Given the description of an element on the screen output the (x, y) to click on. 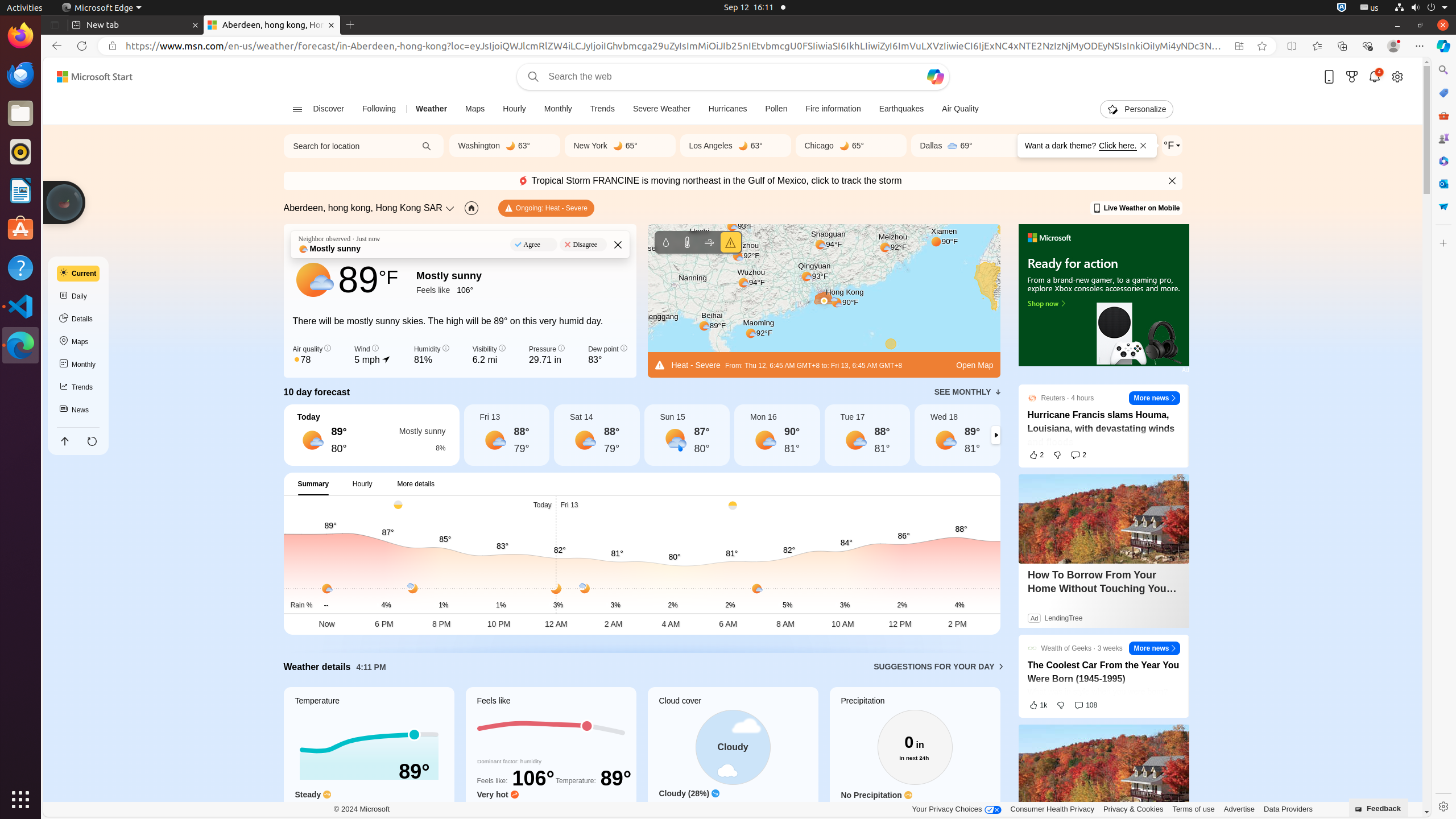
Disagree Element type: push-button (582, 244)
Weather Element type: link (431, 108)
System Element type: menu (1420, 7)
Chicago Clear 65° Element type: push-button (850, 145)
89 °F Element type: link (367, 279)
